Given the description of an element on the screen output the (x, y) to click on. 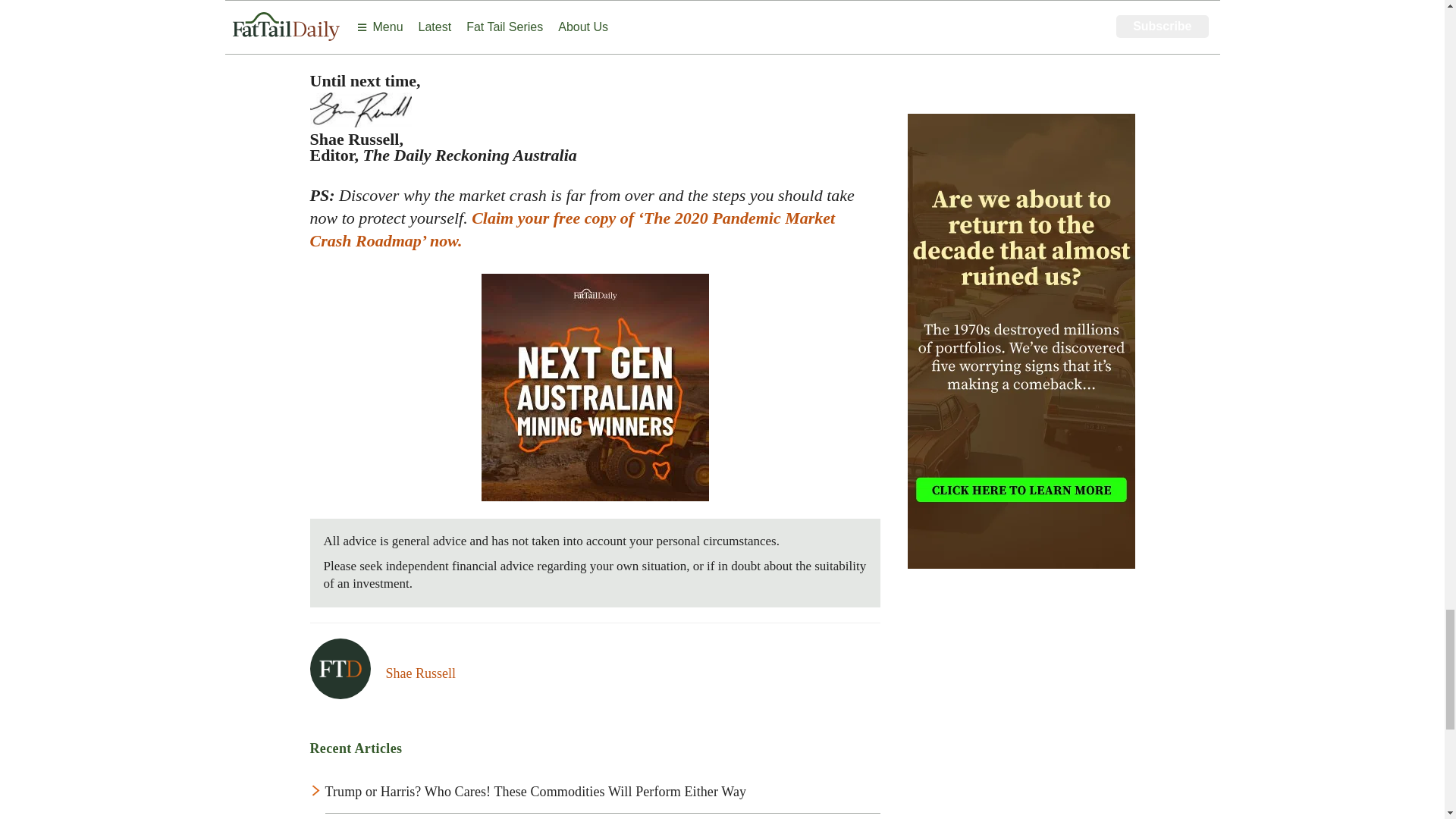
editor (420, 672)
